Given the description of an element on the screen output the (x, y) to click on. 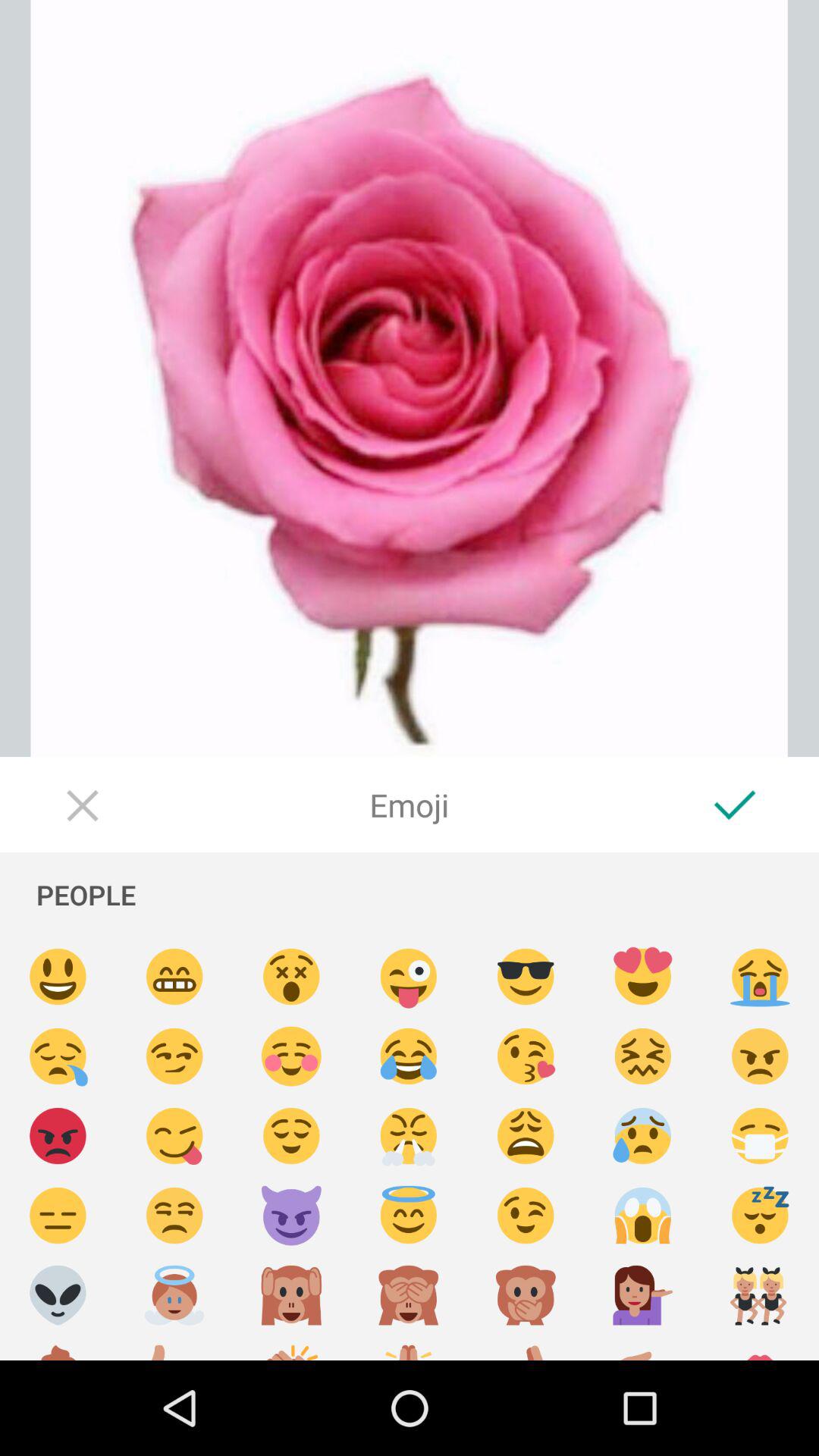
pick emoji (760, 1295)
